Given the description of an element on the screen output the (x, y) to click on. 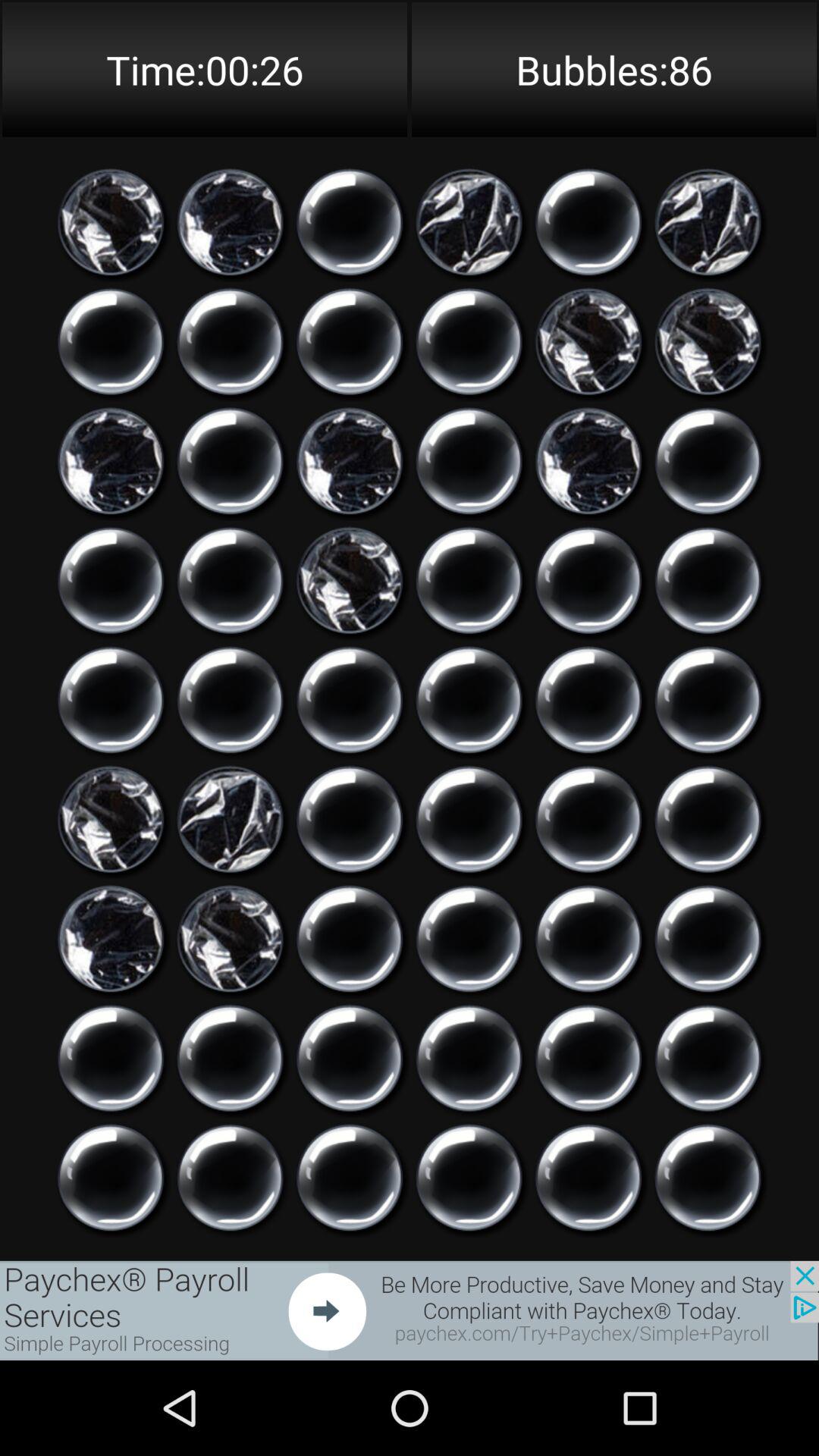
option (707, 1058)
